Given the description of an element on the screen output the (x, y) to click on. 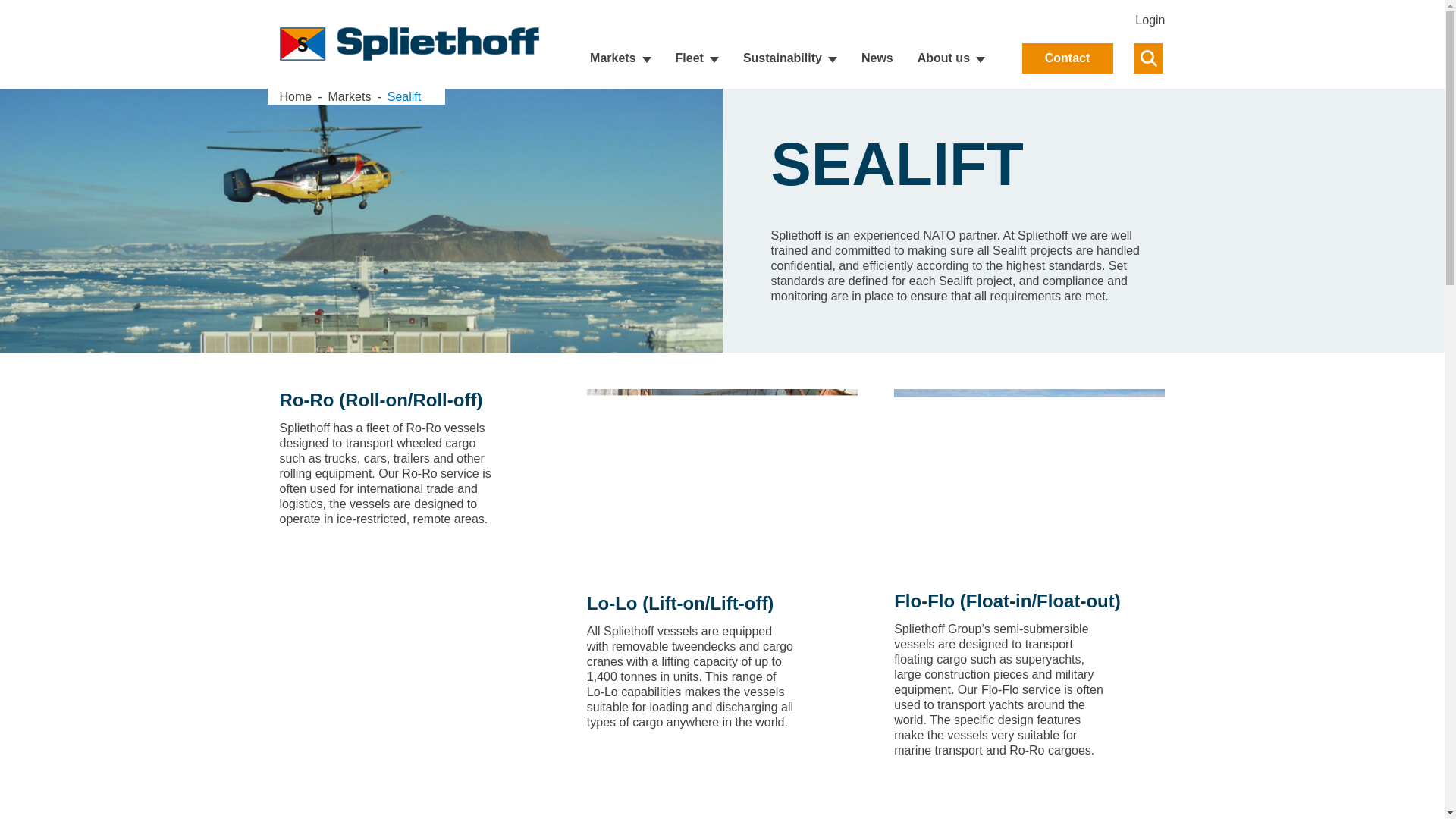
Contact (1067, 57)
About us (951, 57)
Home (307, 96)
Sustainability (789, 57)
News (877, 57)
Home (295, 96)
Fleet (876, 44)
Fleet (697, 57)
Login (697, 57)
